Given the description of an element on the screen output the (x, y) to click on. 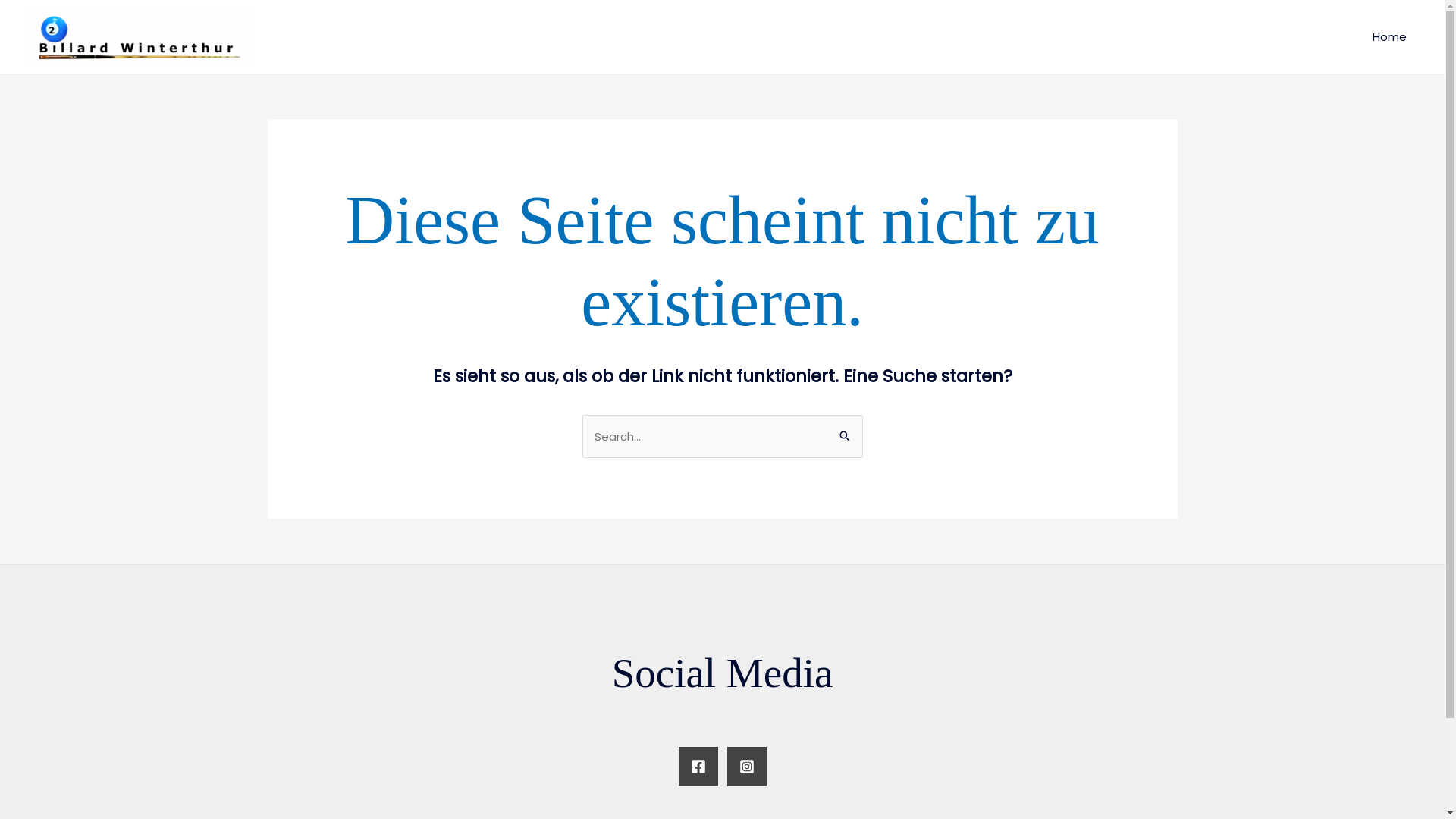
Suche Element type: text (845, 429)
Home Element type: text (1389, 36)
